Given the description of an element on the screen output the (x, y) to click on. 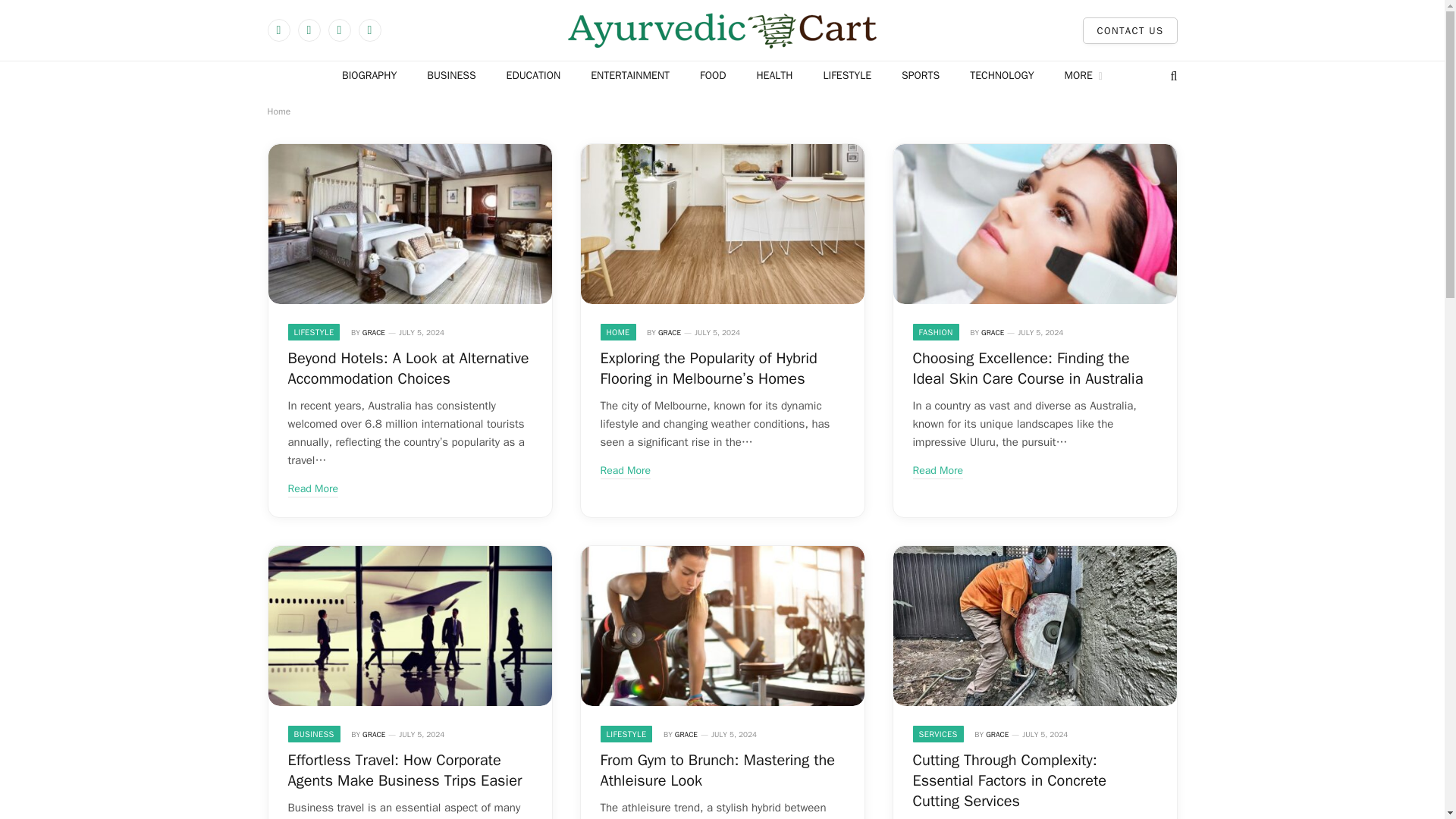
GRACE (992, 332)
BIOGRAPHY (369, 75)
GRACE (669, 332)
HOME (617, 331)
LIFESTYLE (314, 331)
Posts by Grace (997, 734)
Posts by Grace (992, 332)
HEALTH (774, 75)
Posts by Grace (373, 332)
Read More (313, 488)
Read More (624, 470)
BUSINESS (451, 75)
From Gym to Brunch: Mastering the Athleisure Look (722, 625)
